Given the description of an element on the screen output the (x, y) to click on. 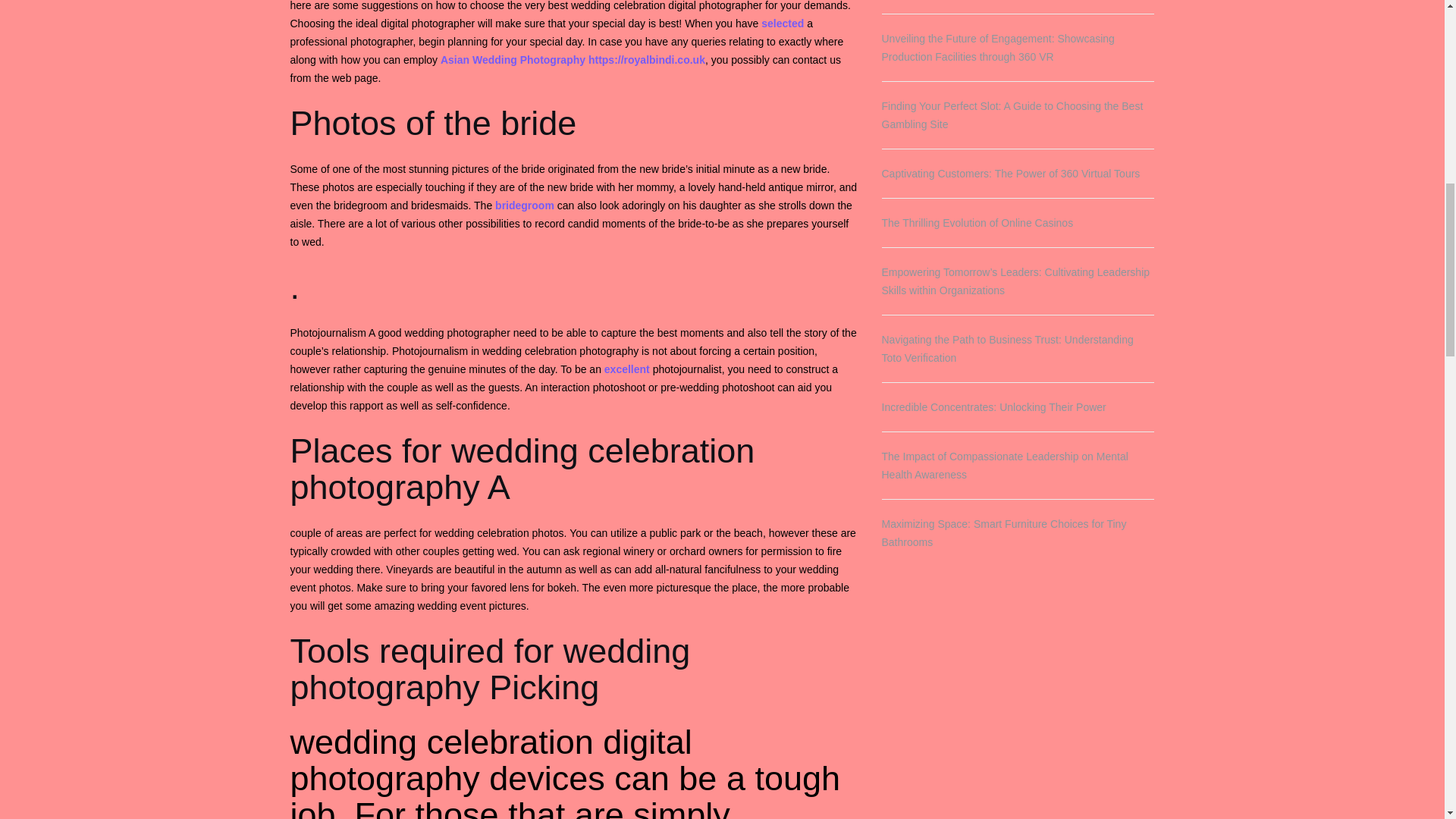
selected (782, 23)
excellent (626, 369)
bridegroom (524, 205)
